Given the description of an element on the screen output the (x, y) to click on. 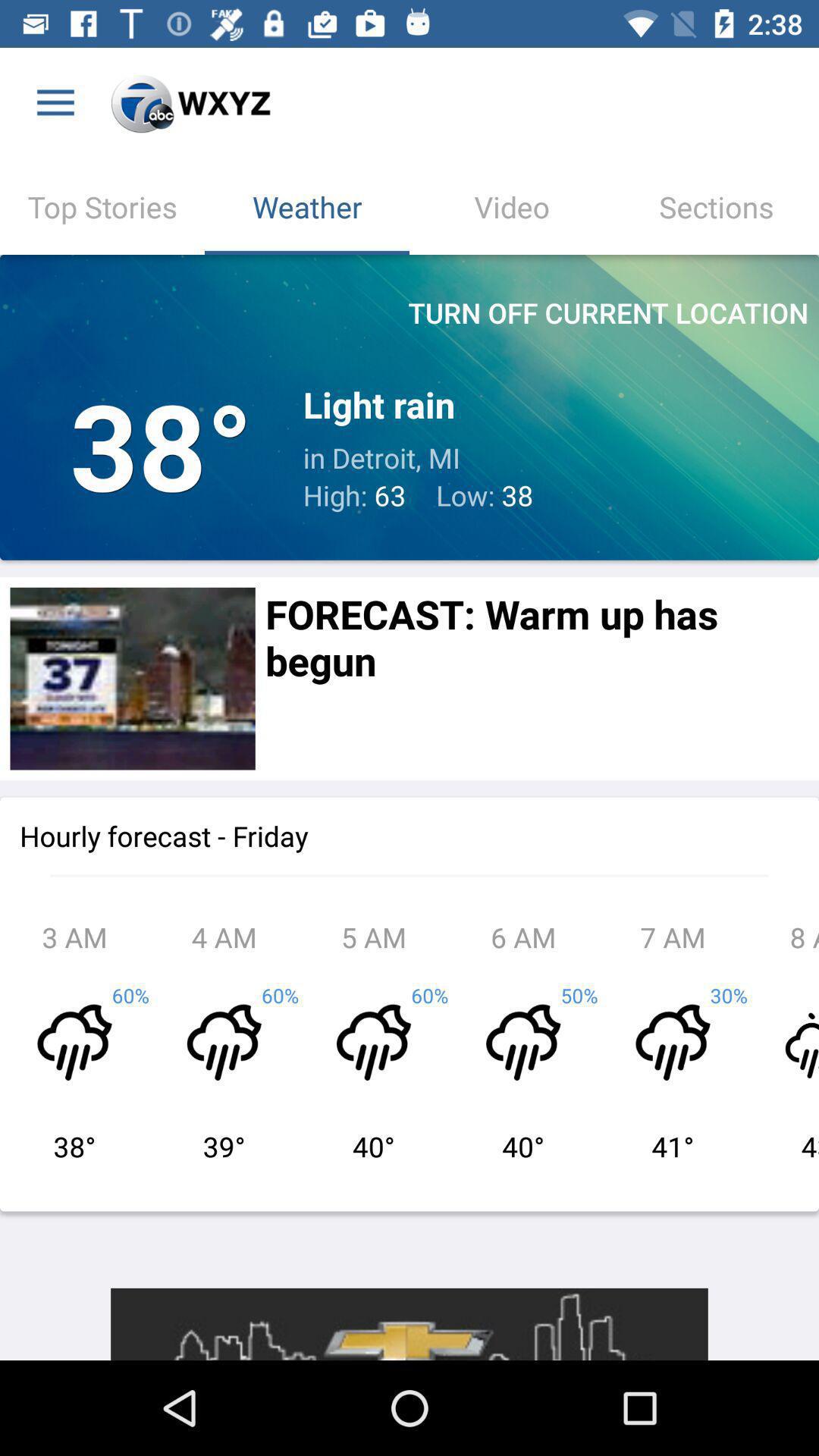
go to calendar (132, 678)
